Given the description of an element on the screen output the (x, y) to click on. 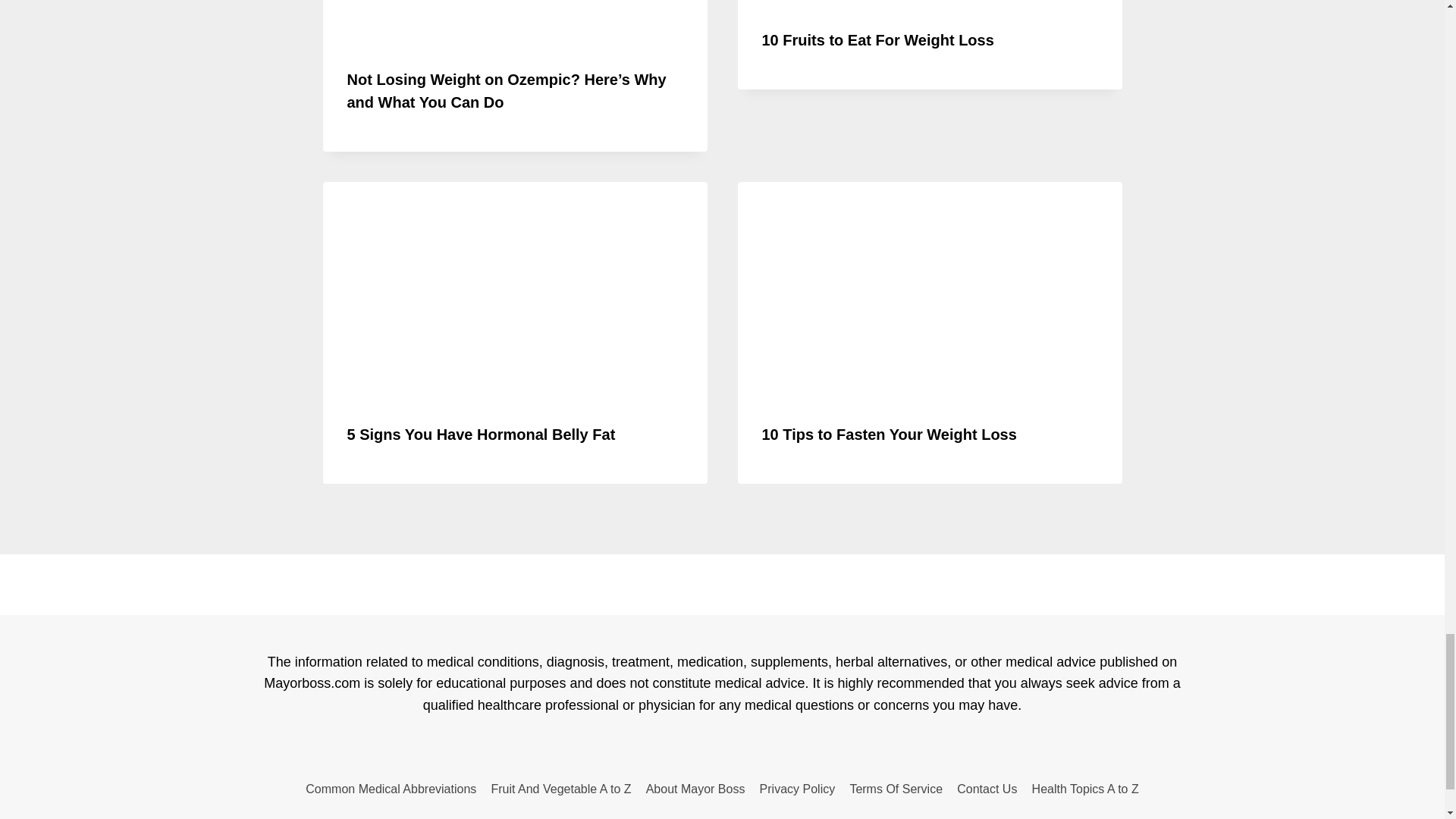
5 Signs You Have Hormonal Belly Fat (481, 434)
10 Fruits to Eat For Weight Loss (876, 39)
Fruit And Vegetable A to Z (561, 788)
10 Tips to Fasten Your Weight Loss (888, 434)
Common Medical Abbreviations (390, 788)
About Mayor Boss (695, 788)
